Given the description of an element on the screen output the (x, y) to click on. 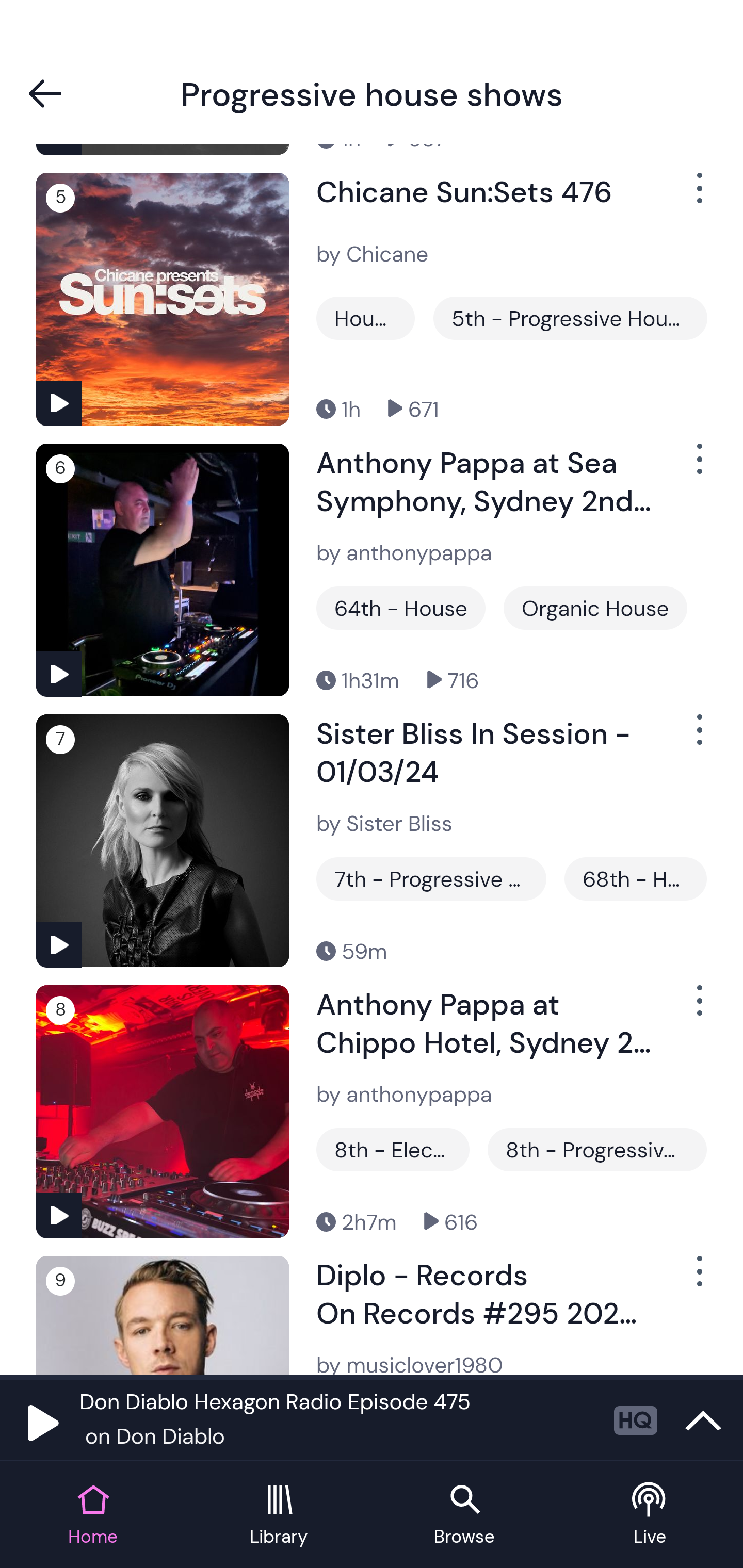
Show Options Menu Button (697, 195)
House (365, 318)
5th - Progressive House (569, 318)
Show Options Menu Button (697, 466)
64th - House (400, 608)
Organic House (595, 608)
Show Options Menu Button (697, 738)
7th - Progressive House (431, 878)
68th - House (635, 878)
Show Options Menu Button (697, 1007)
8th - Electronic (392, 1149)
8th - Progressive House (596, 1149)
Show Options Menu Button (697, 1279)
Home tab Home (92, 1515)
Library tab Library (278, 1515)
Browse tab Browse (464, 1515)
Live tab Live (650, 1515)
